Given the description of an element on the screen output the (x, y) to click on. 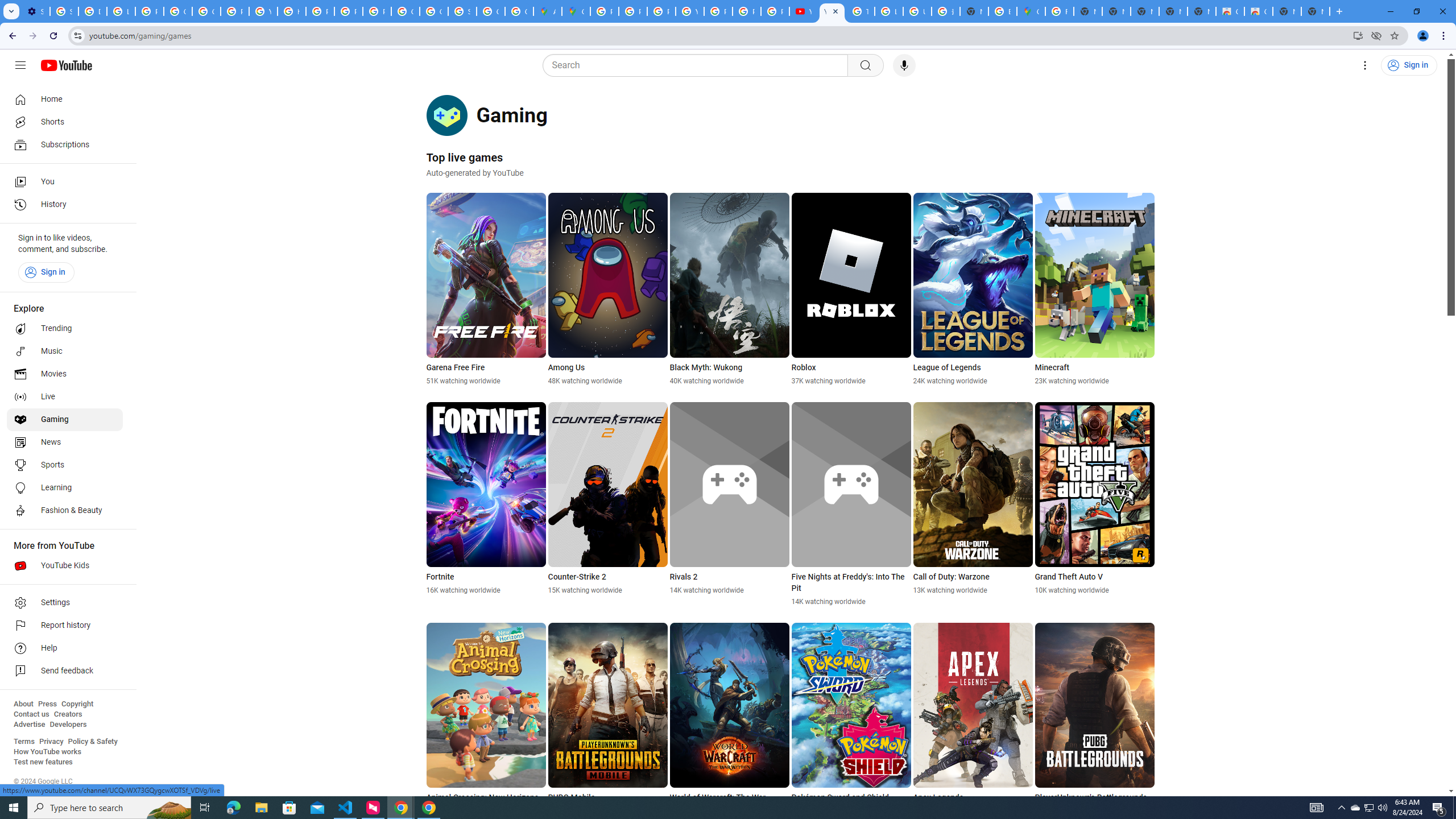
New Tab (973, 11)
Guide (20, 65)
New Tab (1315, 11)
Gaming (64, 419)
Rivals 2 14K watching worldwide (729, 498)
Among Us 48K watching worldwide (607, 289)
Privacy Checkup (774, 11)
Sign in - Google Accounts (461, 11)
Music (64, 350)
Install YouTube (1358, 35)
